Given the description of an element on the screen output the (x, y) to click on. 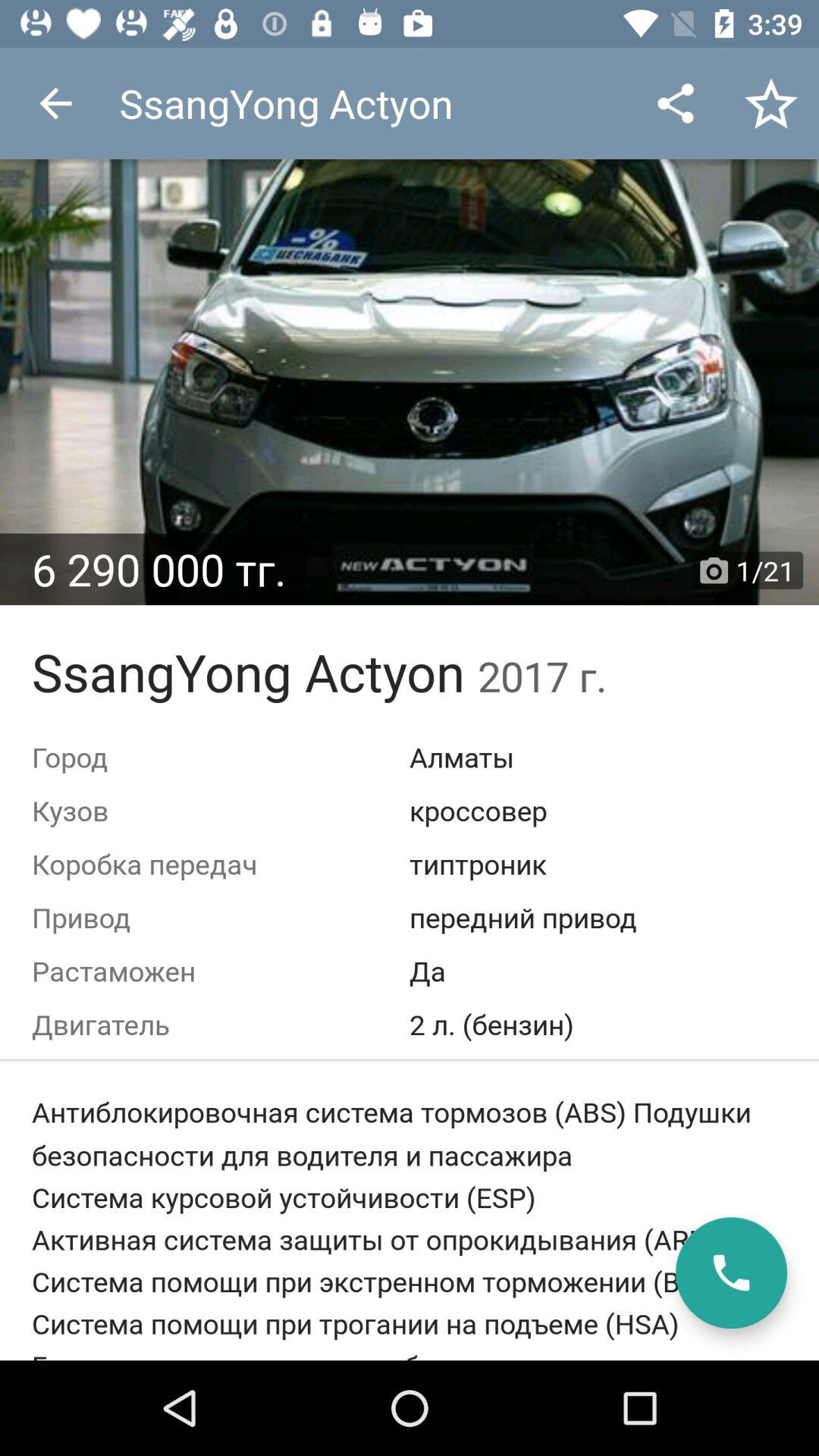
turn on the app to the left of ssangyong actyon item (55, 103)
